Given the description of an element on the screen output the (x, y) to click on. 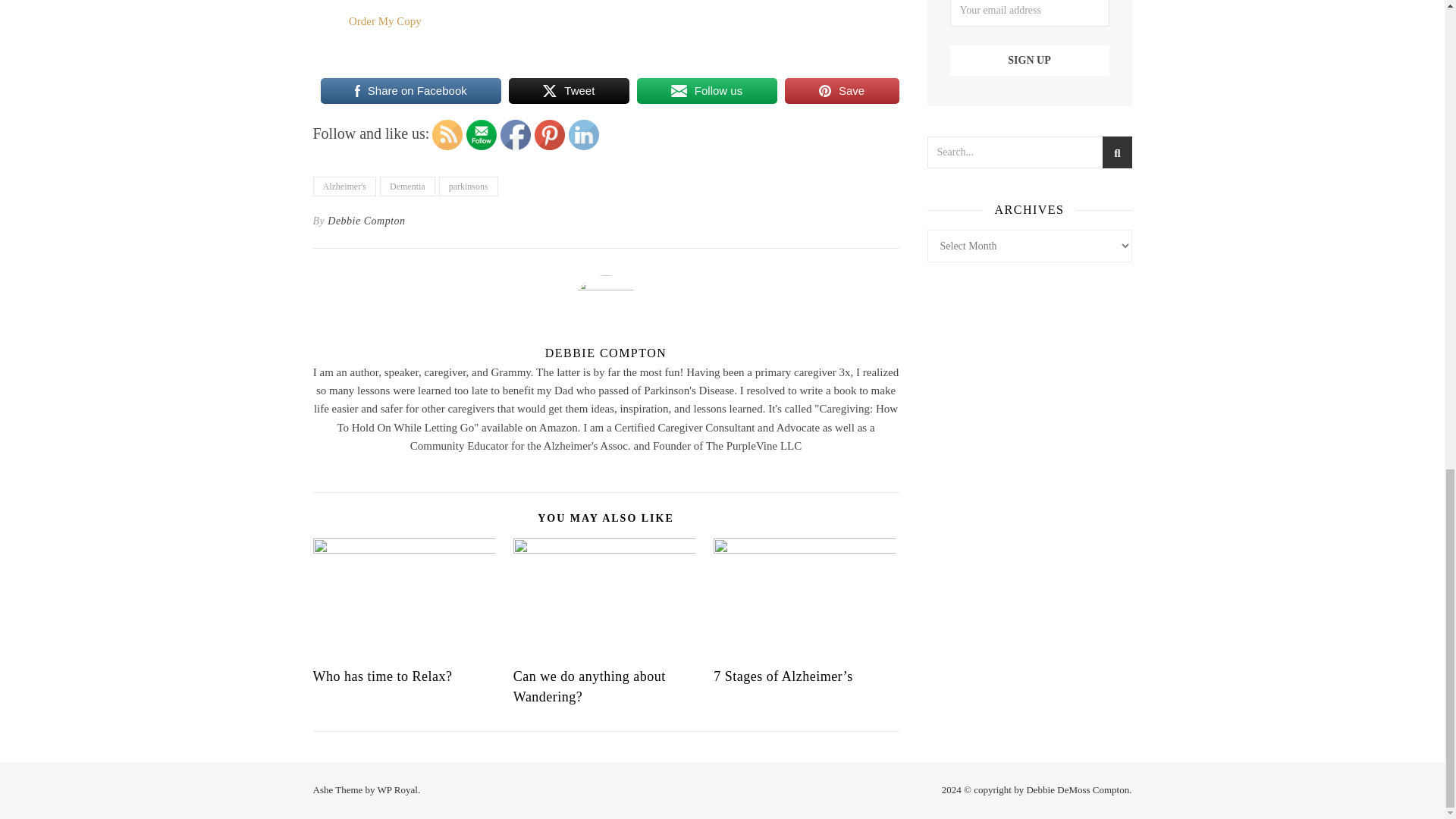
Posts by Debbie Compton (605, 352)
Posts by Debbie Compton (365, 220)
Follow by Email (480, 134)
LinkedIn (583, 134)
RSS (447, 134)
Sign up (1028, 60)
Facebook (515, 134)
Pinterest (549, 134)
